Given the description of an element on the screen output the (x, y) to click on. 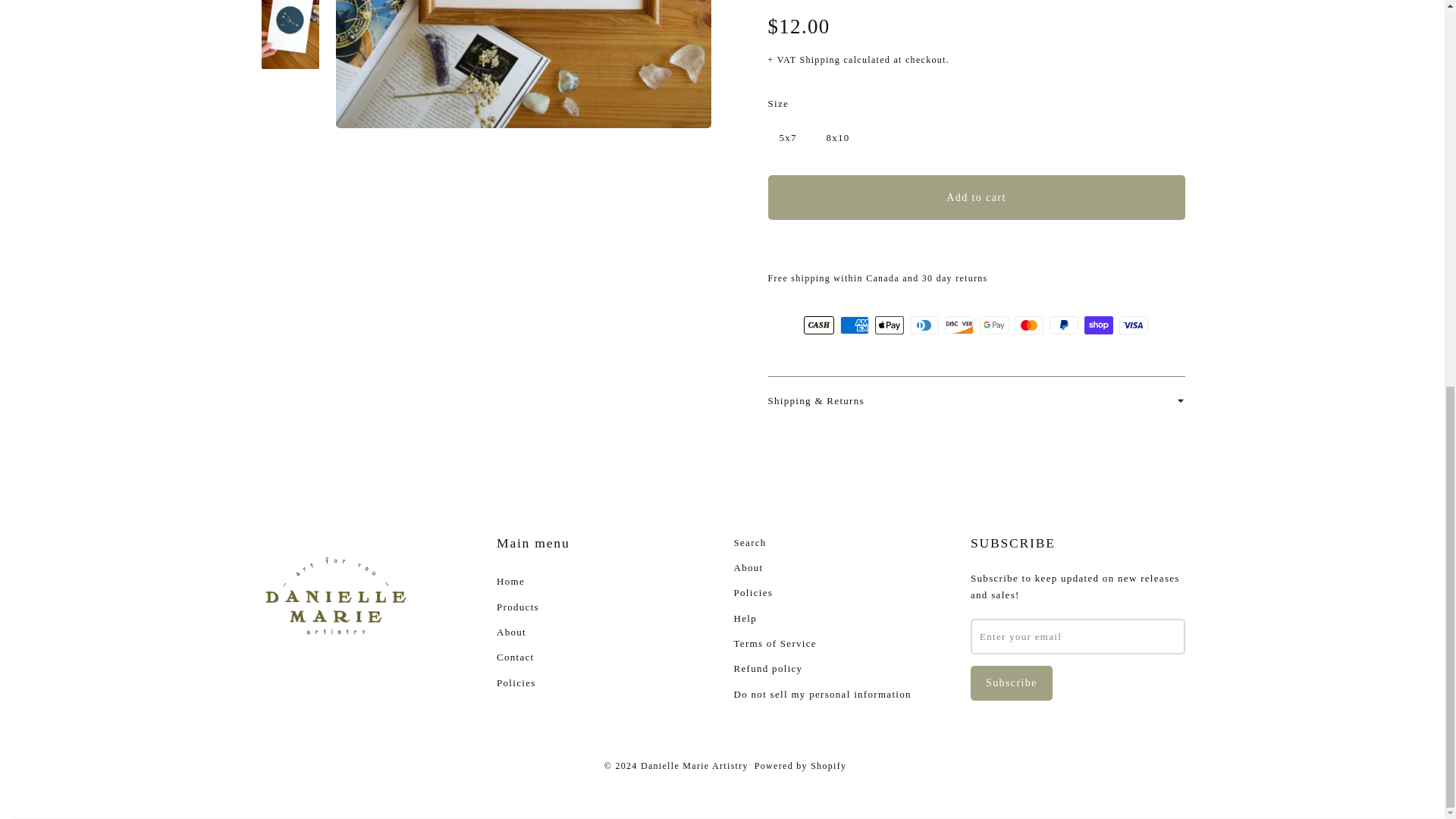
Google Pay (994, 325)
Diners Club (924, 325)
Apple Pay (889, 325)
American Express (854, 325)
PayPal (1063, 325)
Visa (1133, 325)
Mastercard (1028, 325)
Discover (959, 325)
Shop Pay (1098, 325)
